Given the description of an element on the screen output the (x, y) to click on. 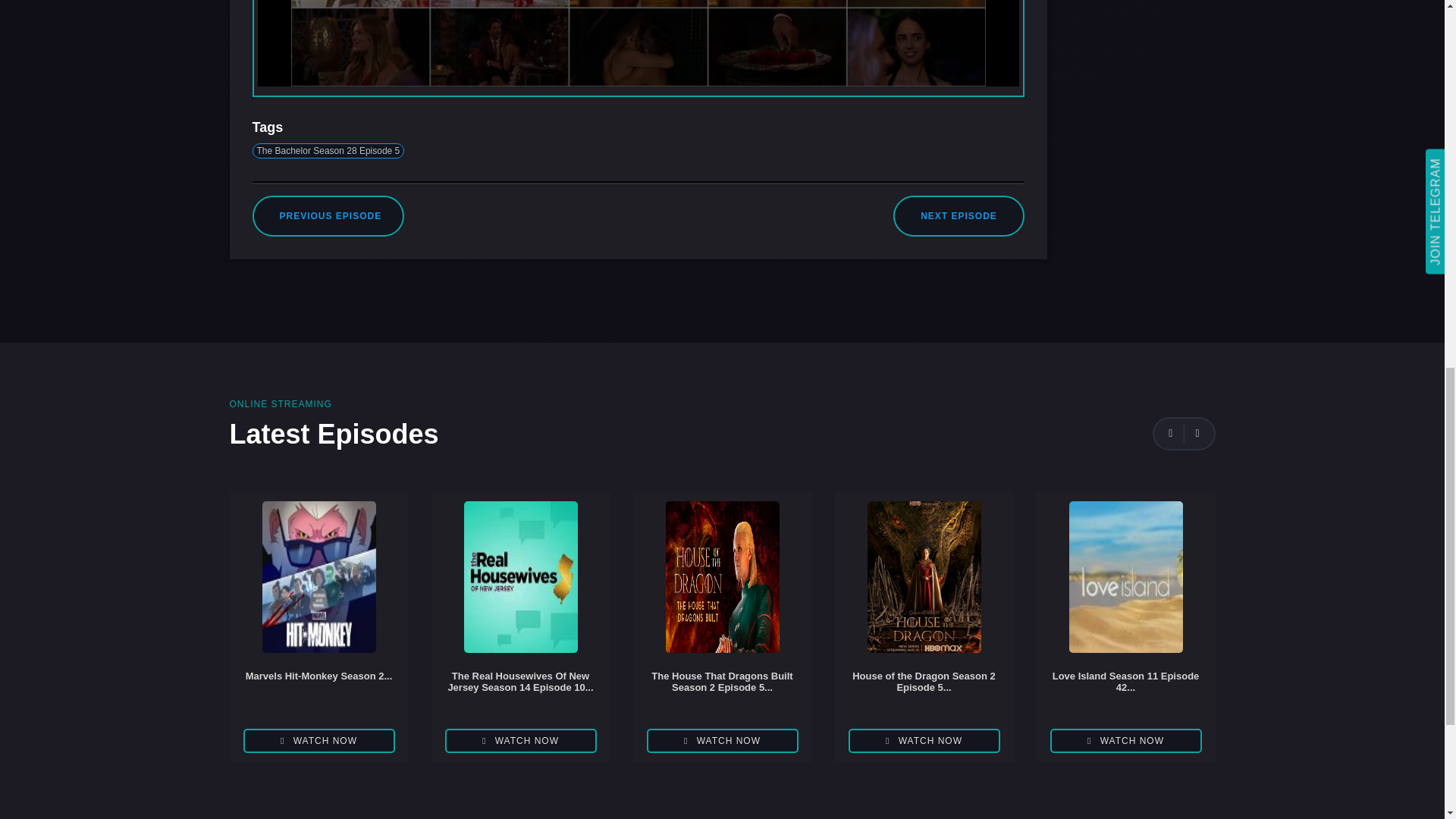
The House That Dragons Built Season 2 Episode 5 (722, 689)
WATCH NOW (1125, 740)
House of the Dragon Season 2 Episode 5 (923, 689)
PREVIOUS EPISODE (330, 215)
WATCH NOW (318, 740)
Marvels Hit-Monkey Season 2 (318, 689)
WATCH NOW (519, 740)
Love Island Season 11 Episode 42 (1125, 689)
The Real Housewives Of New Jersey Season 14 Episode 10 (519, 689)
WATCH NOW (922, 740)
WATCH NOW (721, 740)
NEXT EPISODE (958, 215)
